Given the description of an element on the screen output the (x, y) to click on. 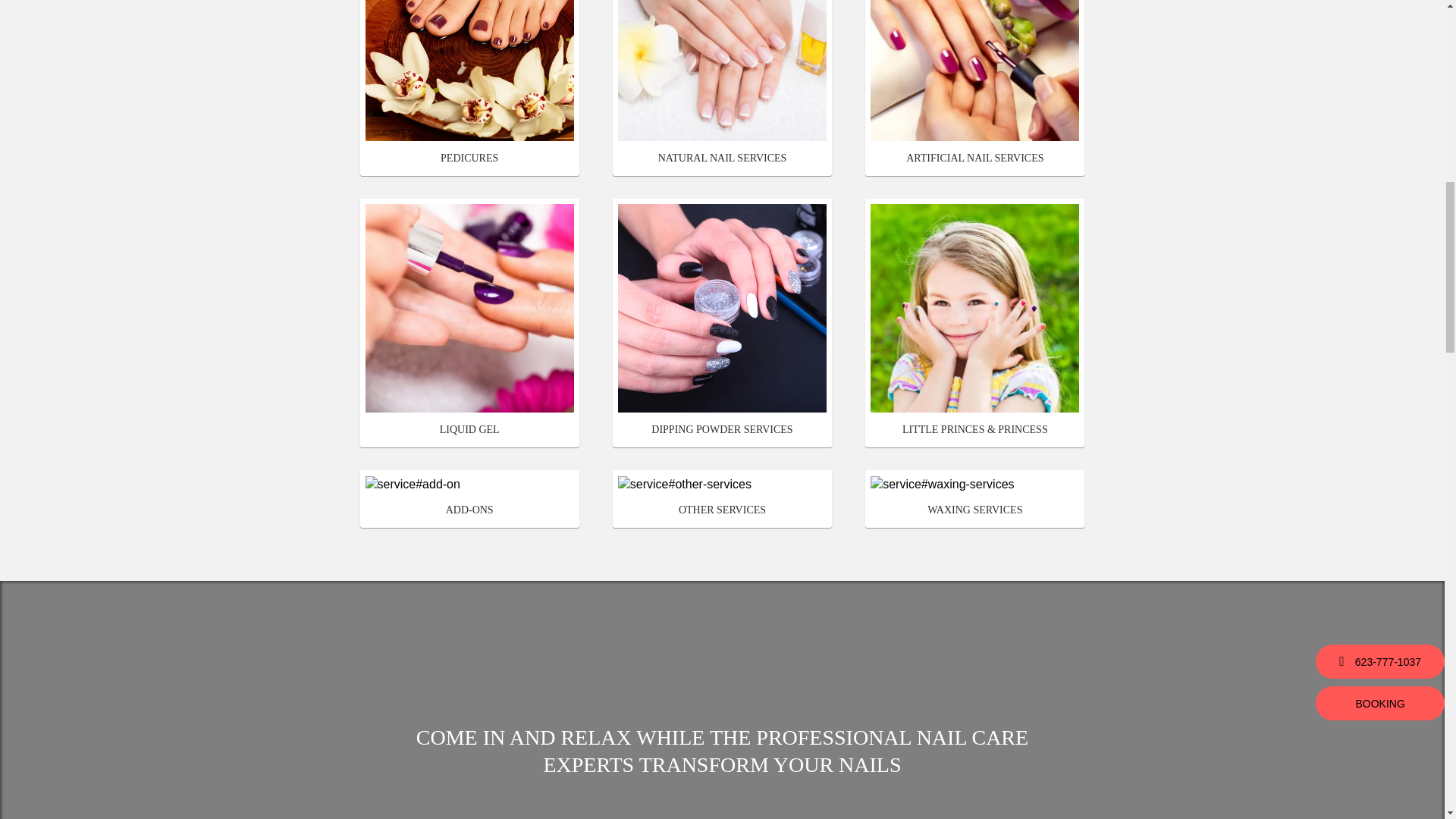
PEDICURES (470, 87)
ARTIFICIAL NAIL SERVICES (974, 87)
WAXING SERVICES (974, 498)
NATURAL NAIL SERVICES (722, 87)
DIPPING POWDER SERVICES (722, 323)
OTHER SERVICES (722, 498)
LIQUID GEL (470, 323)
ADD-ONS (470, 498)
